Given the description of an element on the screen output the (x, y) to click on. 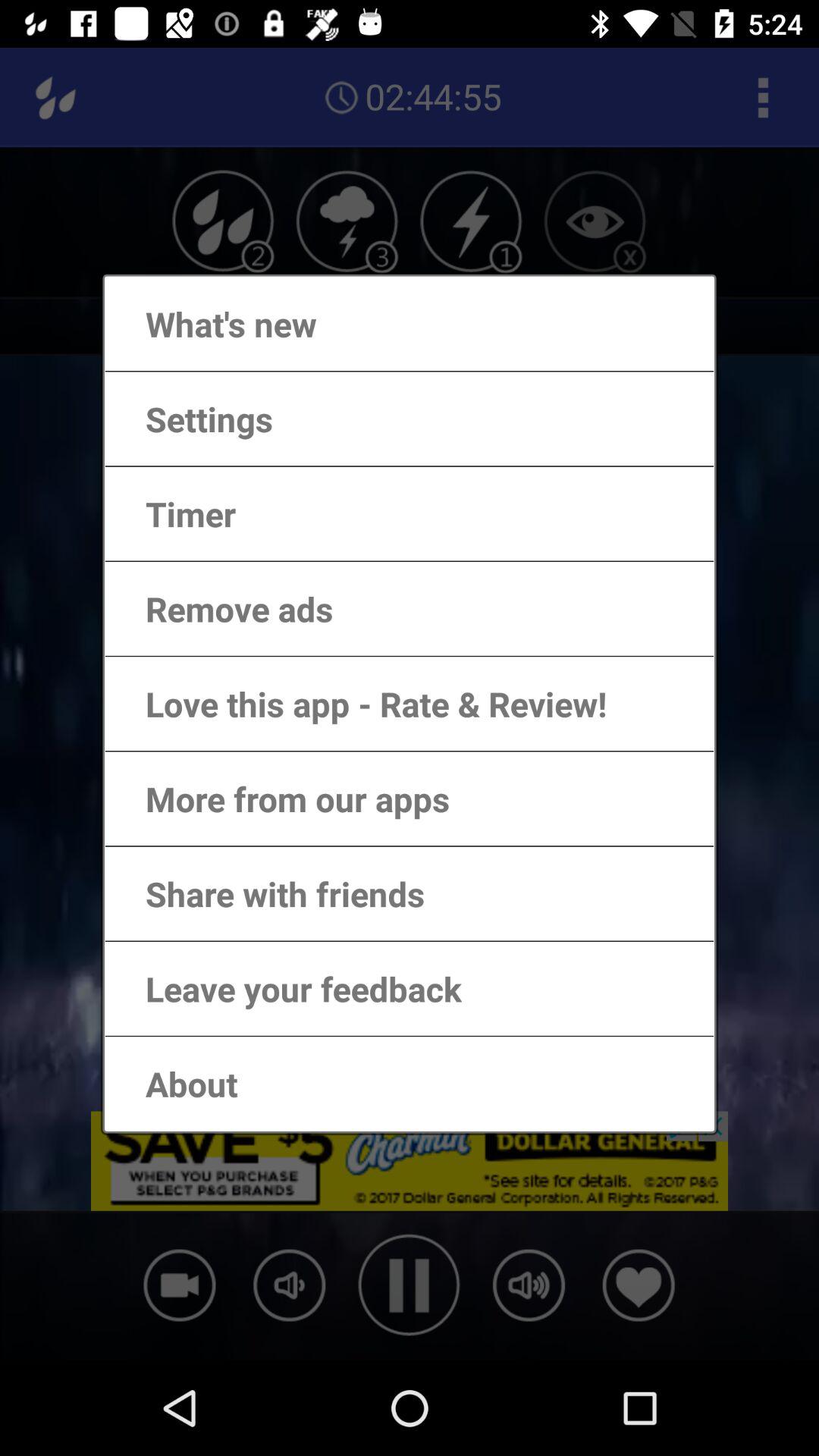
click the icon above leave your feedback (269, 893)
